Given the description of an element on the screen output the (x, y) to click on. 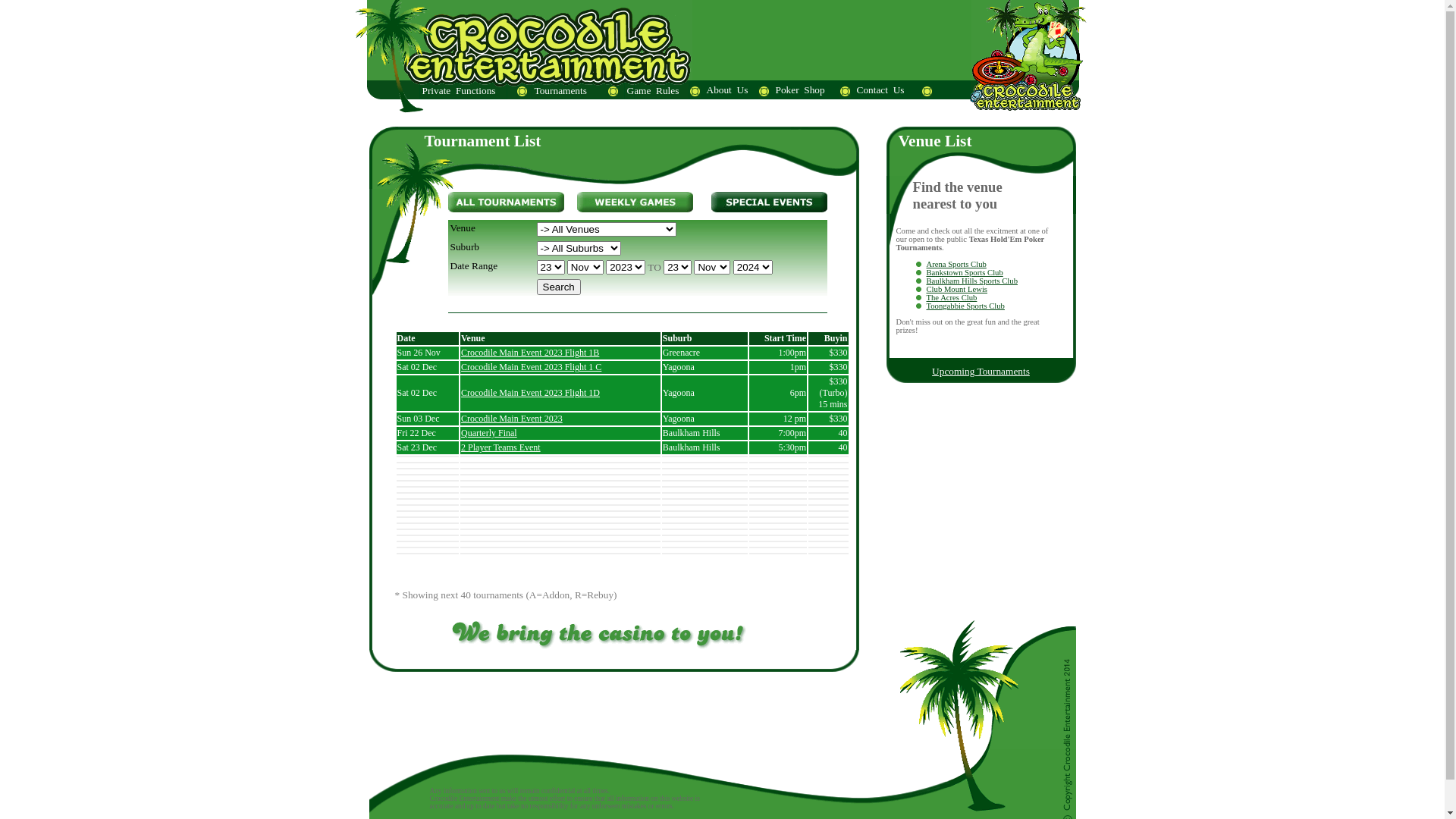
Toongabbie Sports Club Element type: text (965, 305)
Private_Functions Element type: text (462, 90)
Crocodile Main Event 2023 Flight 1 C Element type: text (531, 366)
Arena Sports Club Element type: text (956, 264)
Crocodile Main Event 2023 Flight 1B Element type: text (530, 352)
Poker_Shop Element type: text (800, 89)
2 Player Teams Event Element type: text (500, 447)
Upcoming Tournaments Element type: text (980, 370)
Bankstown Sports Club Element type: text (964, 272)
Baulkham Hills Sports Club Element type: text (971, 280)
Tournaments Element type: text (581, 90)
Quarterly Final Element type: text (489, 432)
Game_Rules Element type: text (655, 90)
About_Us Element type: text (726, 89)
Search Element type: text (558, 286)
Crocodile Main Event 2023 Element type: text (511, 418)
Club Mount Lewis Element type: text (957, 289)
Contact_Us Element type: text (879, 89)
Crocodile Main Event 2023 Flight 1D Element type: text (530, 392)
The Acres Club Element type: text (951, 297)
